Given the description of an element on the screen output the (x, y) to click on. 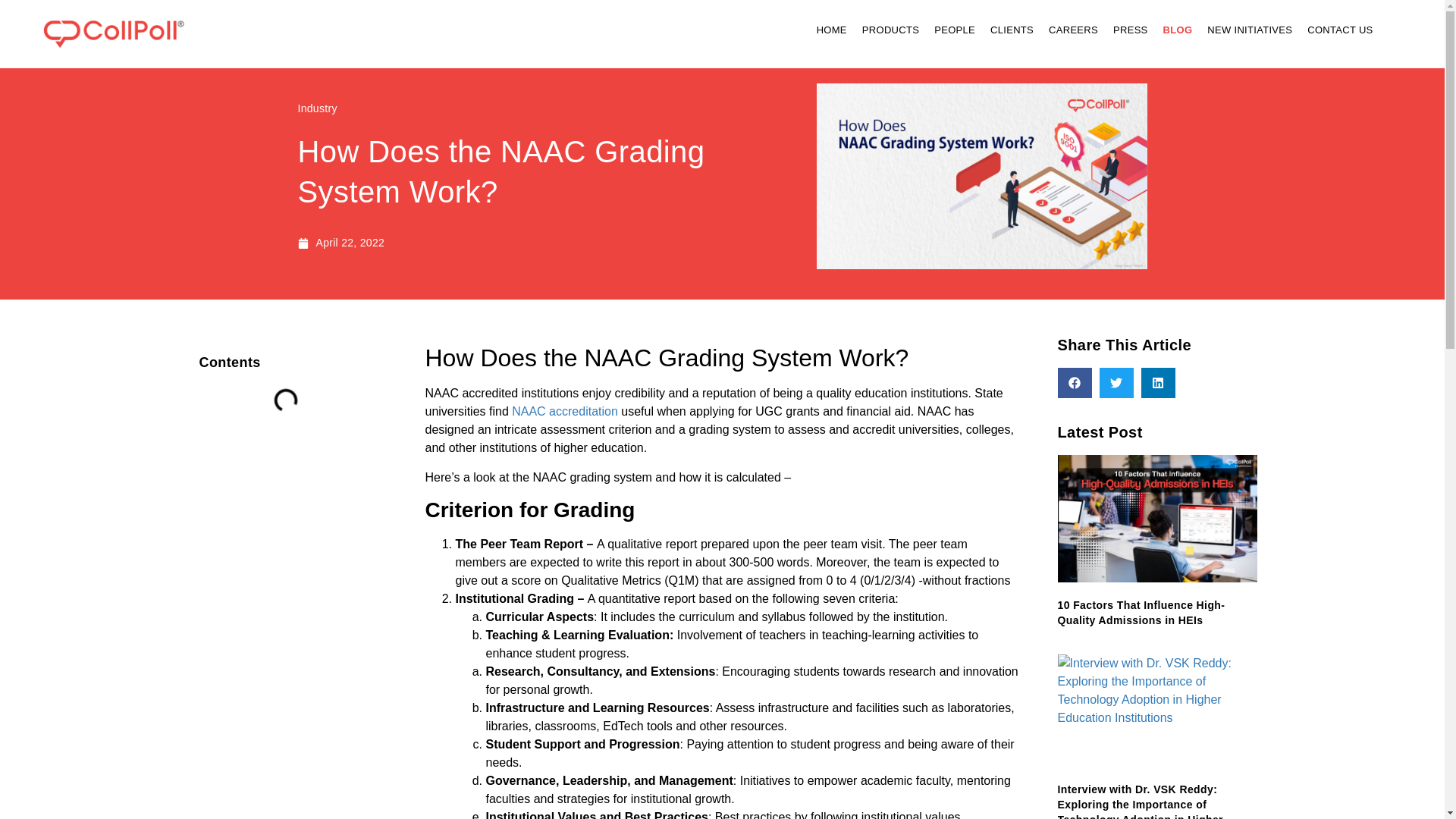
NEW INITIATIVES (1249, 30)
CONTACT US (1340, 30)
PRODUCTS (890, 30)
PRESS (1130, 30)
HOME (831, 30)
CLIENTS (1011, 30)
BLOG (1177, 30)
CAREERS (1073, 30)
PEOPLE (954, 30)
